Given the description of an element on the screen output the (x, y) to click on. 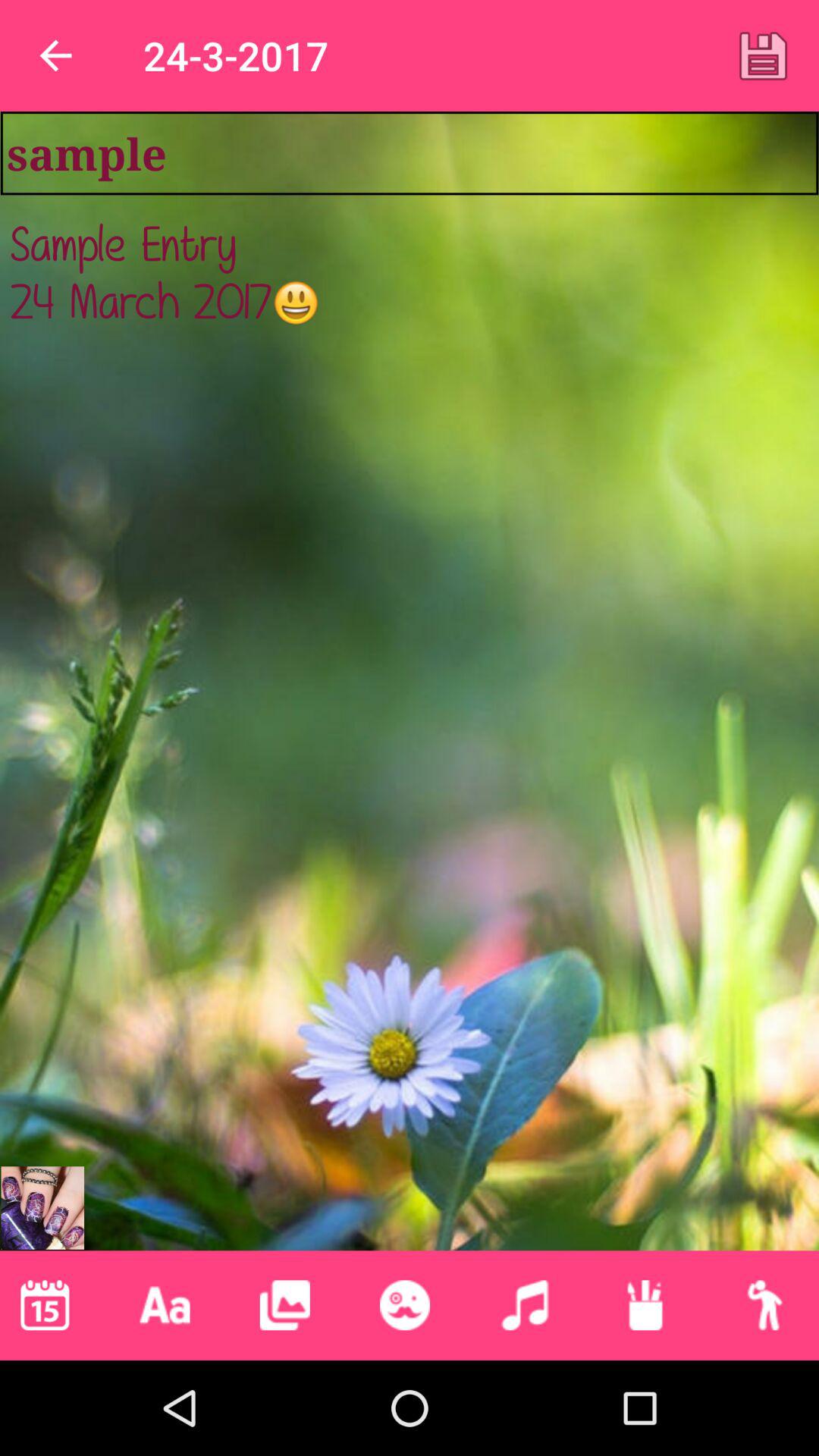
tap icon for paint (644, 1305)
